Given the description of an element on the screen output the (x, y) to click on. 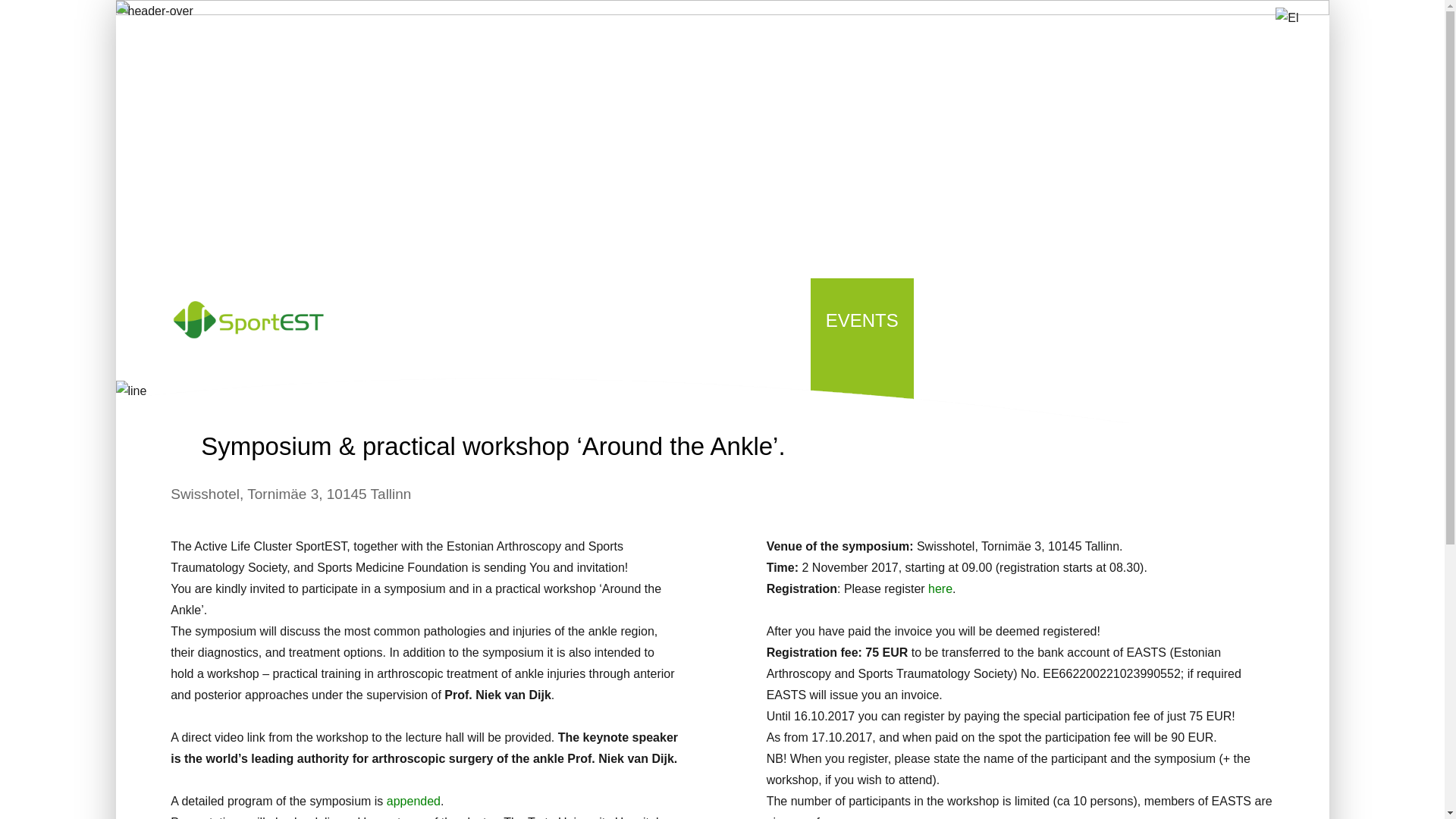
EST (1197, 346)
appended (414, 800)
here (940, 588)
SEARCH (1274, 318)
RUS (1230, 346)
